Given the description of an element on the screen output the (x, y) to click on. 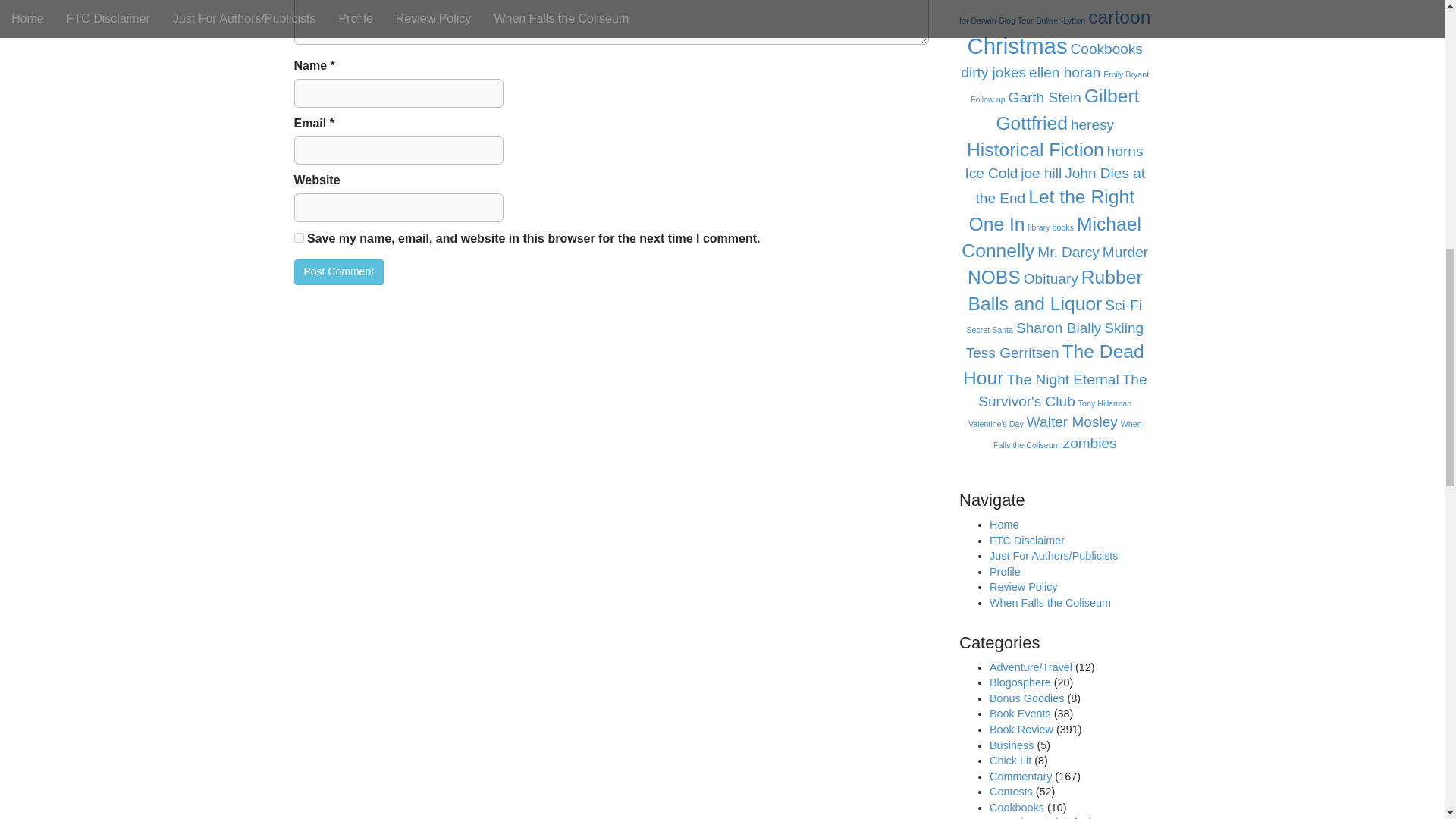
Signings, readings, sales and other book-related activities (1020, 713)
Blog Tour (1015, 20)
Awards, events, and other blogging-related stuff (1020, 682)
Post Comment (339, 272)
yes (299, 237)
Blog for Darwin (1054, 12)
Post Comment (339, 272)
